Given the description of an element on the screen output the (x, y) to click on. 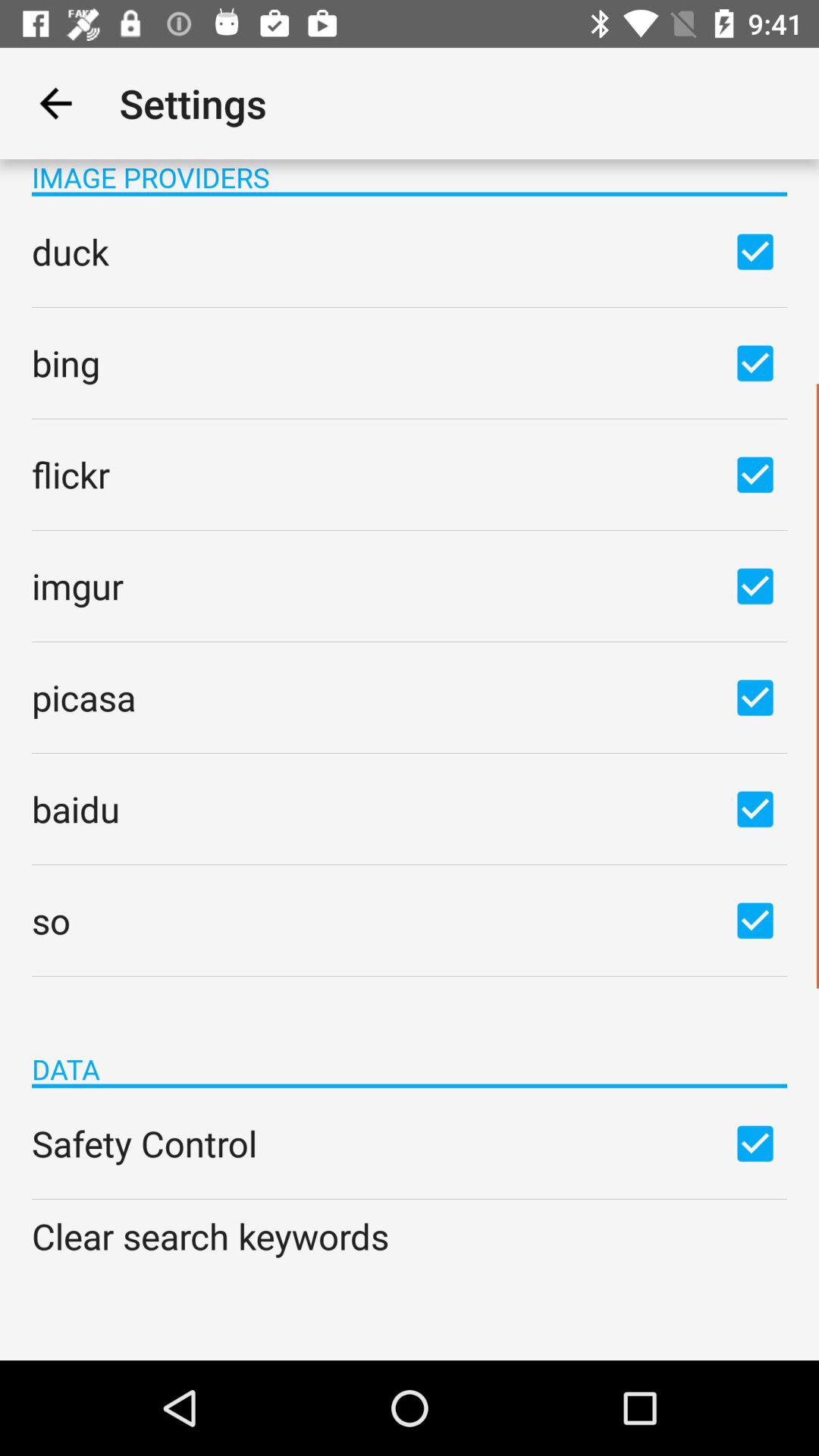
turn off the app next to settings app (55, 103)
